Given the description of an element on the screen output the (x, y) to click on. 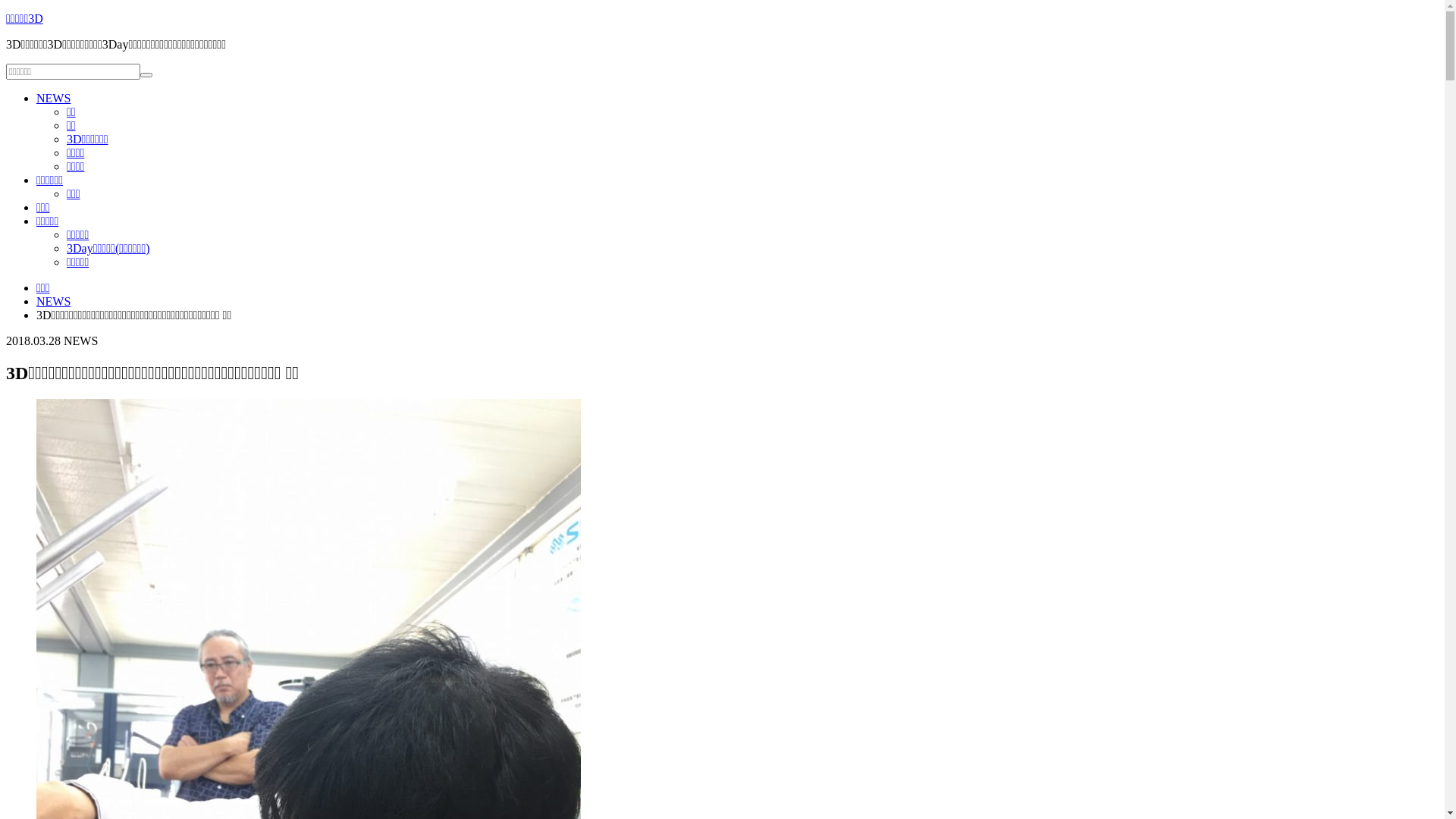
NEWS Element type: text (53, 300)
NEWS Element type: text (53, 97)
